Given the description of an element on the screen output the (x, y) to click on. 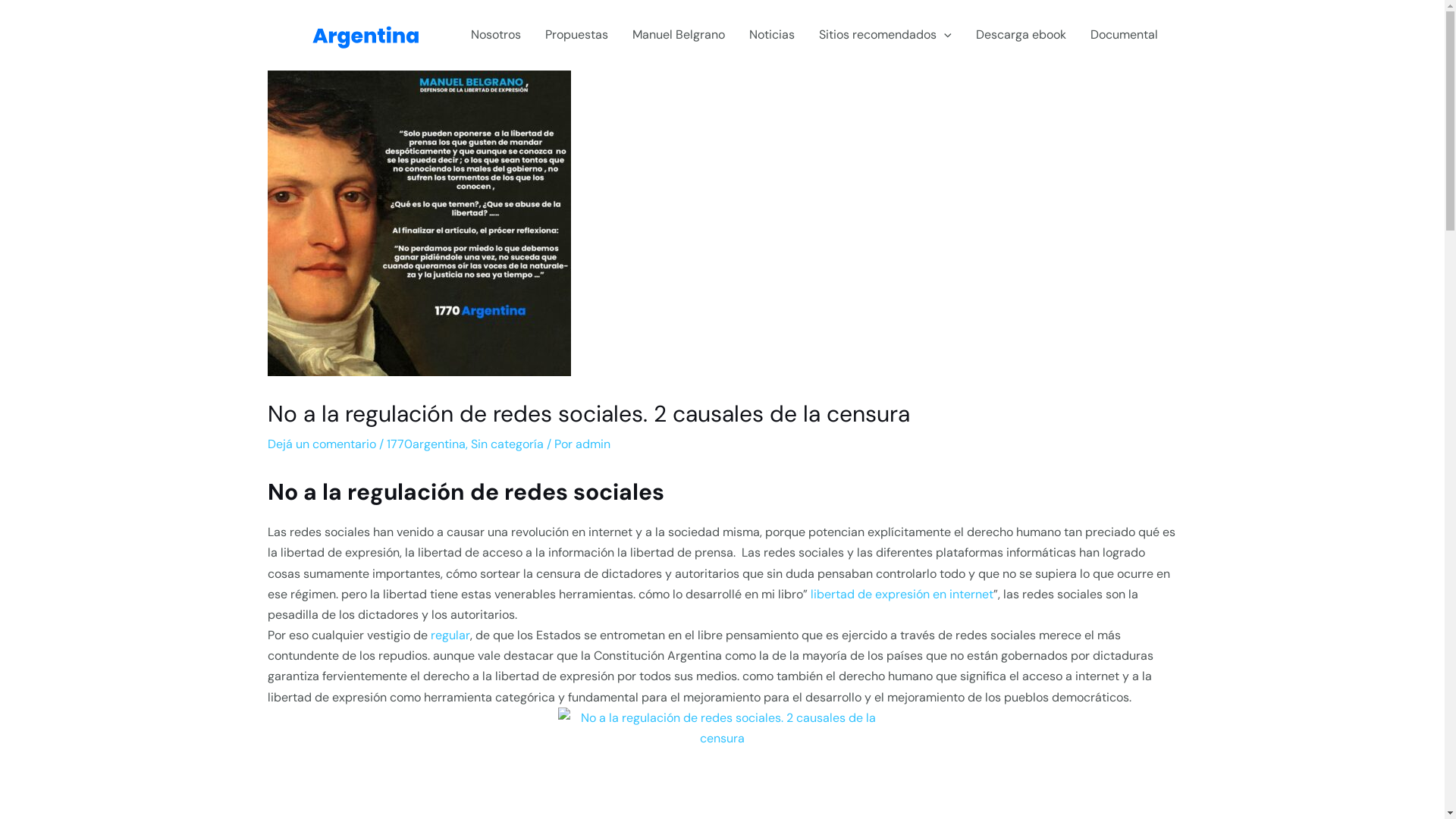
Sitios recomendados Element type: text (884, 34)
Noticias Element type: text (771, 34)
admin Element type: text (591, 443)
Propuestas Element type: text (576, 34)
Descarga ebook Element type: text (1020, 34)
regular Element type: text (450, 635)
Manuel Belgrano Element type: text (678, 34)
1770argentina Element type: text (425, 443)
Documental Element type: text (1124, 34)
Nosotros Element type: text (495, 34)
